Given the description of an element on the screen output the (x, y) to click on. 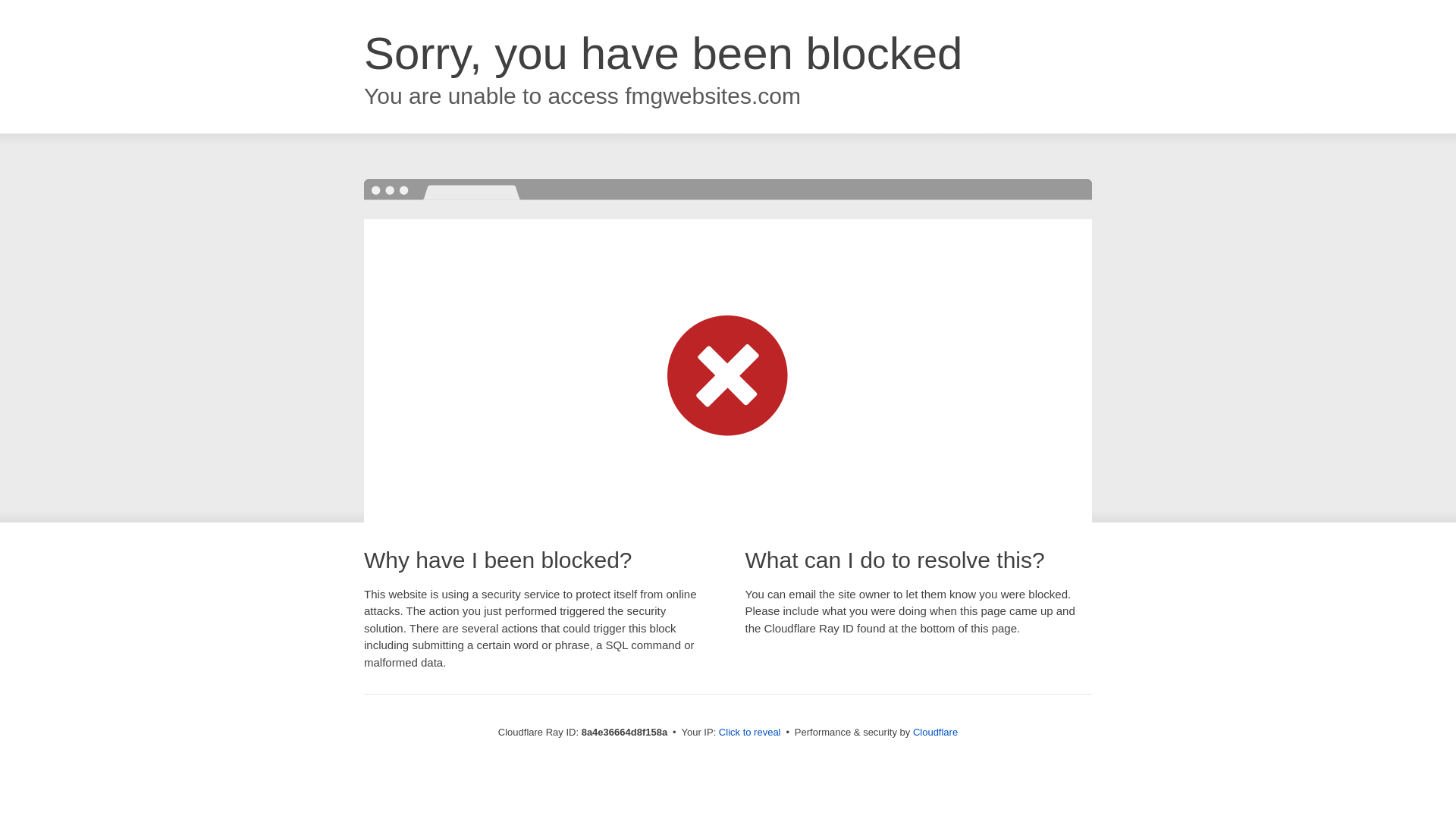
Cloudflare (935, 731)
Click to reveal (749, 732)
